Given the description of an element on the screen output the (x, y) to click on. 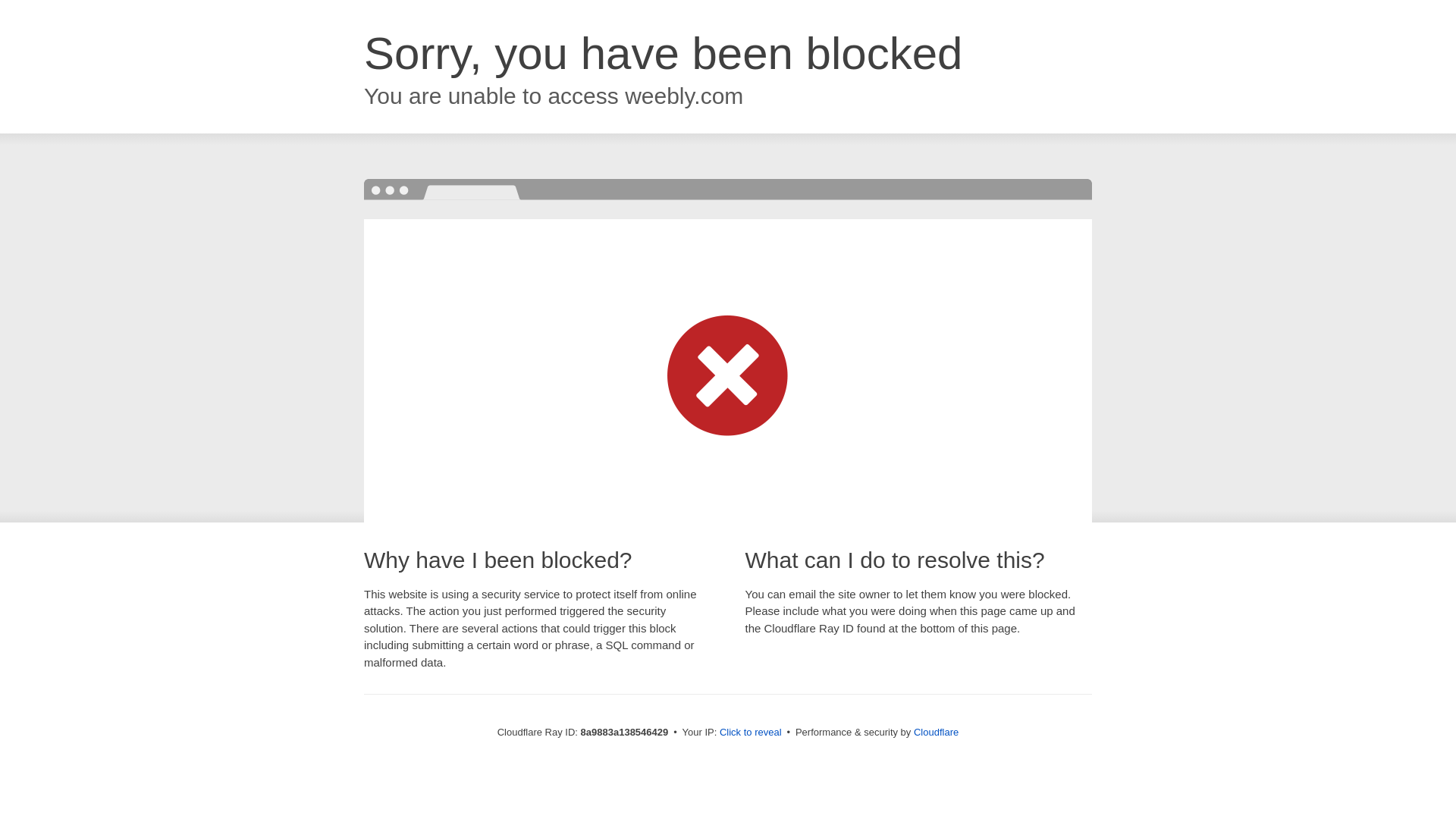
Click to reveal (750, 732)
Cloudflare (936, 731)
